Given the description of an element on the screen output the (x, y) to click on. 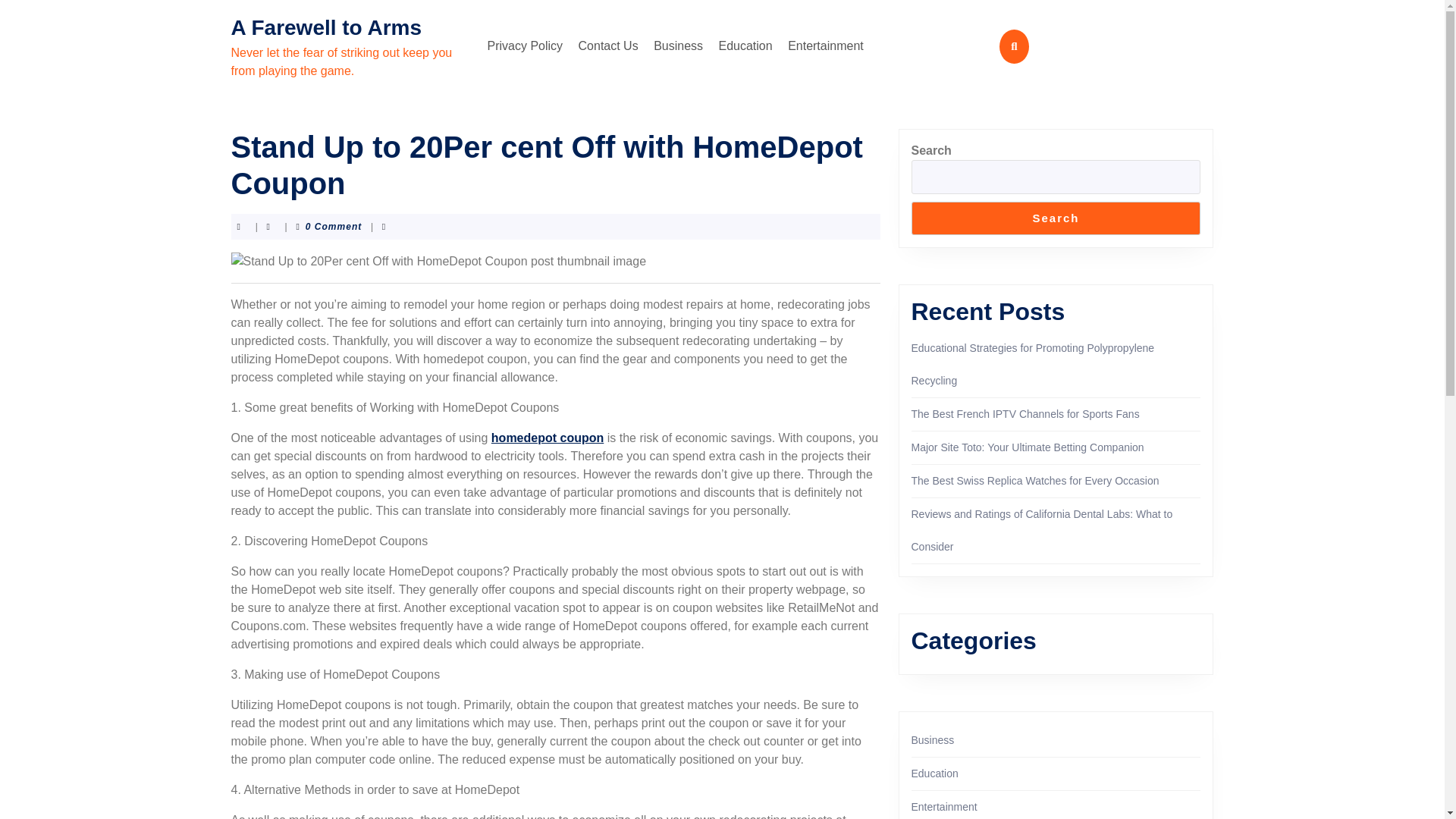
Business (678, 46)
Entertainment (943, 806)
Education (745, 46)
Entertainment (825, 46)
A Farewell to Arms (326, 27)
Business (933, 739)
Education (934, 773)
Educational Strategies for Promoting Polypropylene Recycling (1032, 364)
Search (1056, 218)
